Given the description of an element on the screen output the (x, y) to click on. 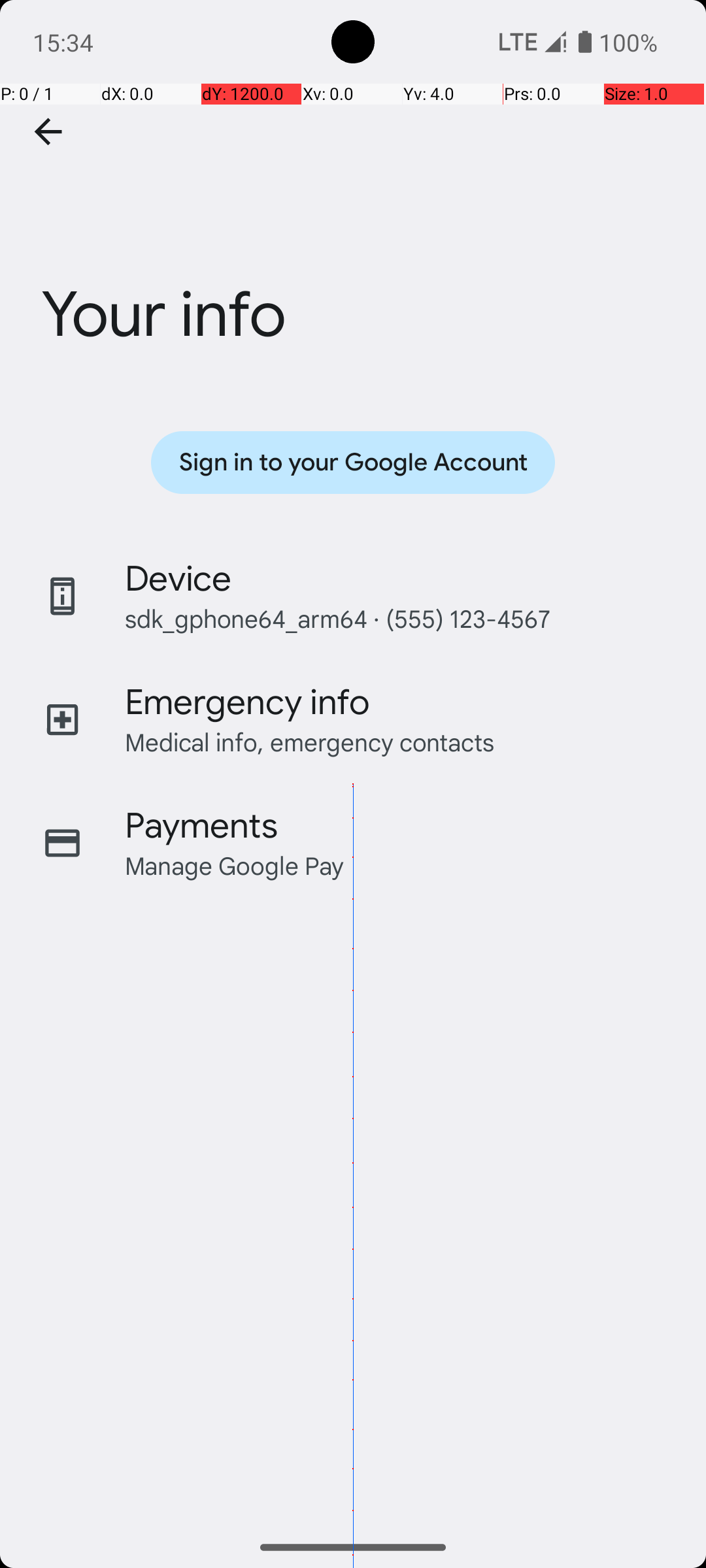
Sign in to your Google Account Element type: android.widget.Button (352, 462)
sdk_gphone64_arm64 · (555) 123-4567 Element type: android.widget.TextView (337, 618)
Emergency info Element type: android.widget.TextView (246, 702)
Medical info, emergency contacts Element type: android.widget.TextView (309, 741)
Payments Element type: android.widget.TextView (200, 825)
Manage Google Pay Element type: android.widget.TextView (234, 865)
